Given the description of an element on the screen output the (x, y) to click on. 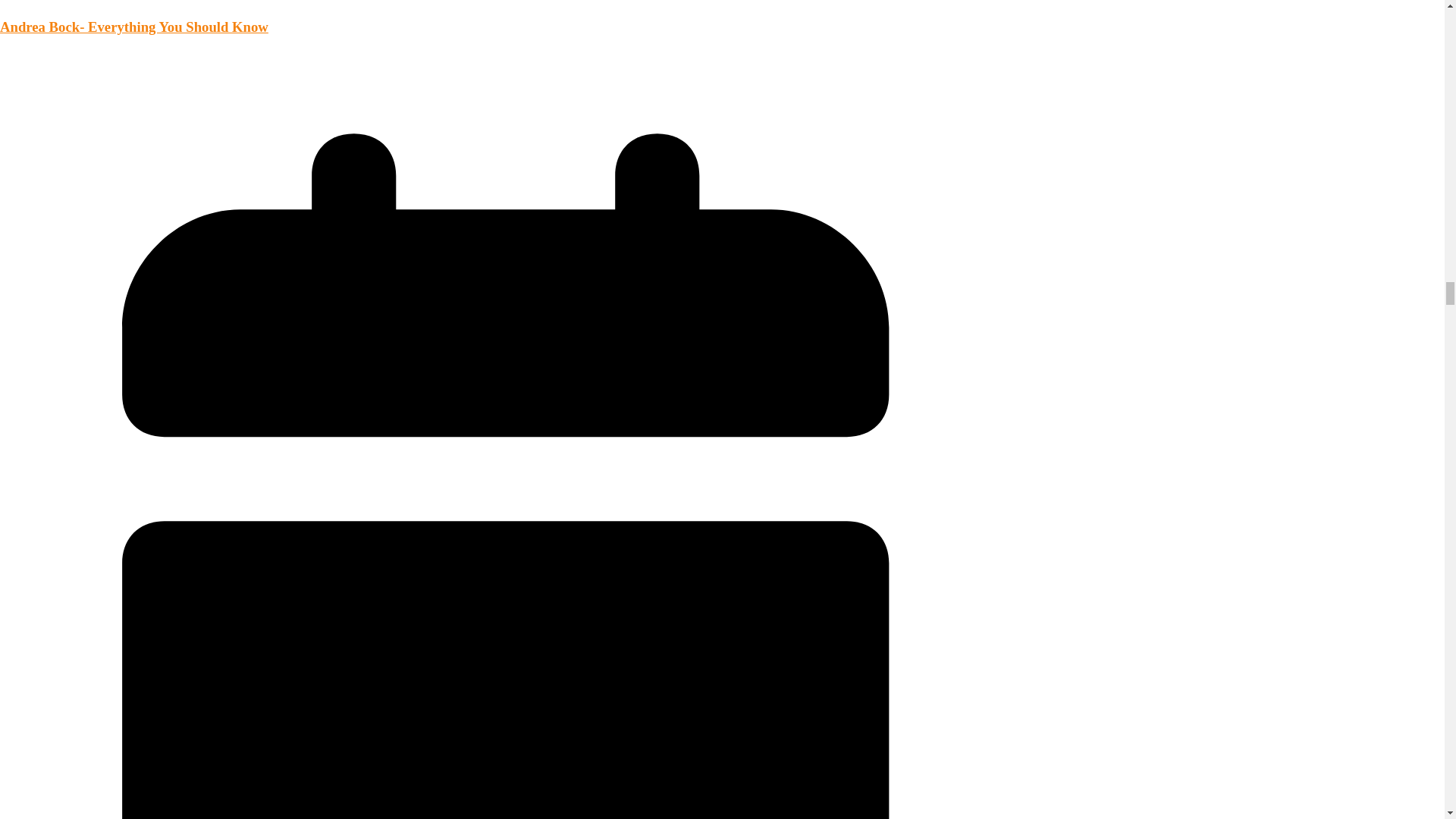
Andrea Bock- Everything You Should Know (133, 26)
